Given the description of an element on the screen output the (x, y) to click on. 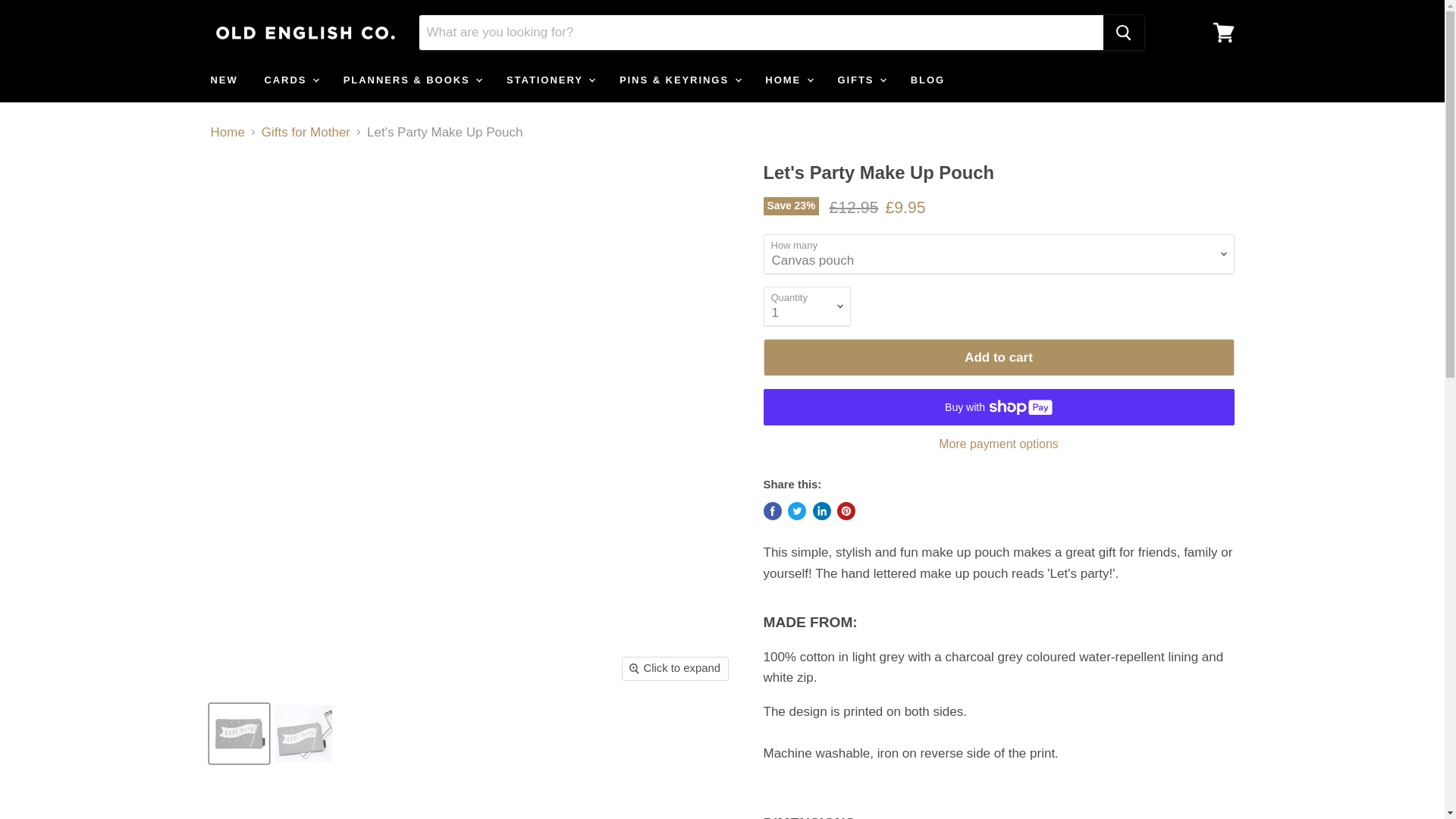
STATIONERY (549, 79)
View cart (1223, 32)
NEW (223, 79)
CARDS (290, 79)
